Given the description of an element on the screen output the (x, y) to click on. 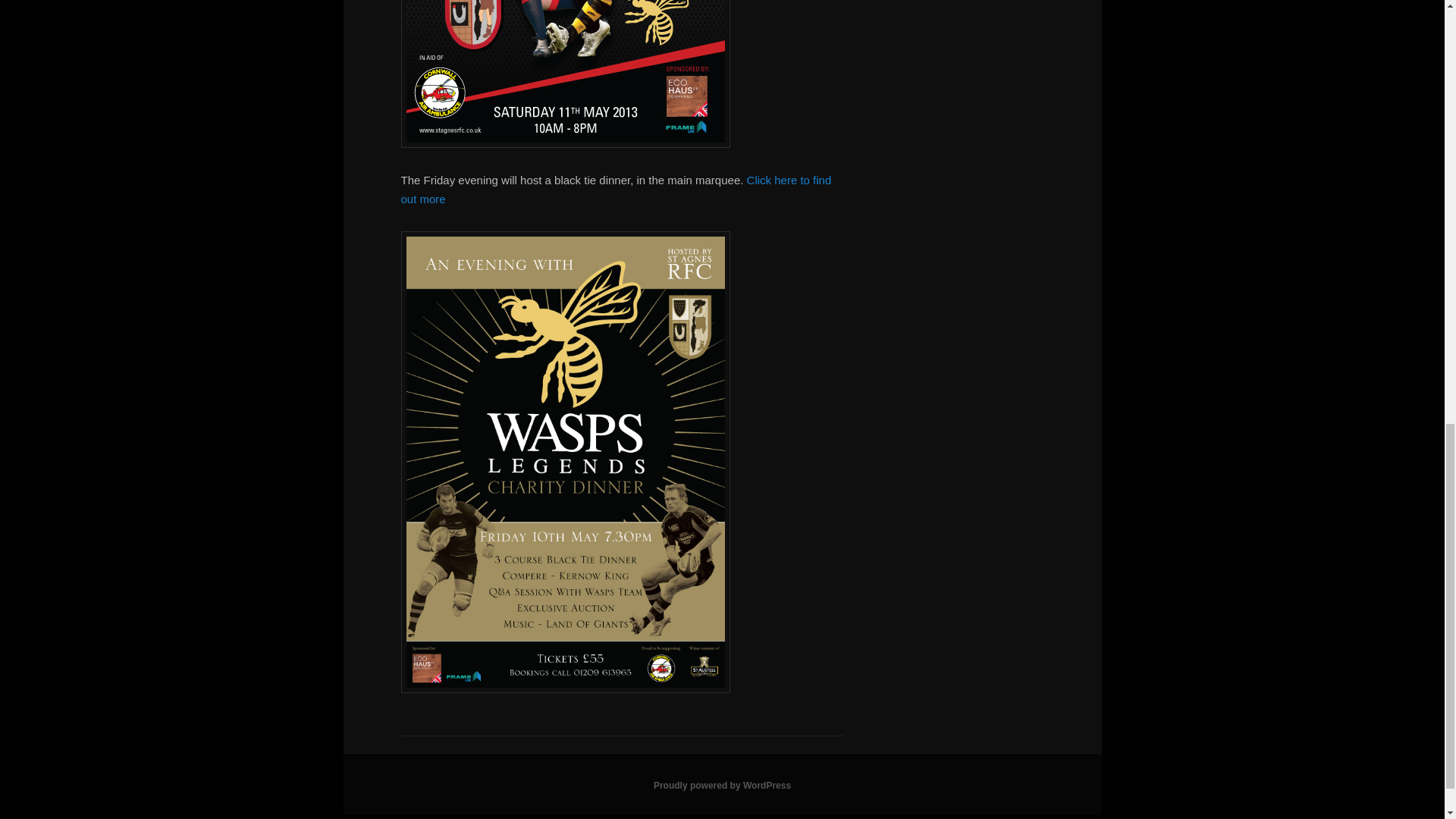
Semantic Personal Publishing Platform (721, 785)
Proudly powered by WordPress (721, 785)
Charity Dinner (615, 188)
Charity Dinner (564, 688)
Click here to find out more (615, 188)
